Given the description of an element on the screen output the (x, y) to click on. 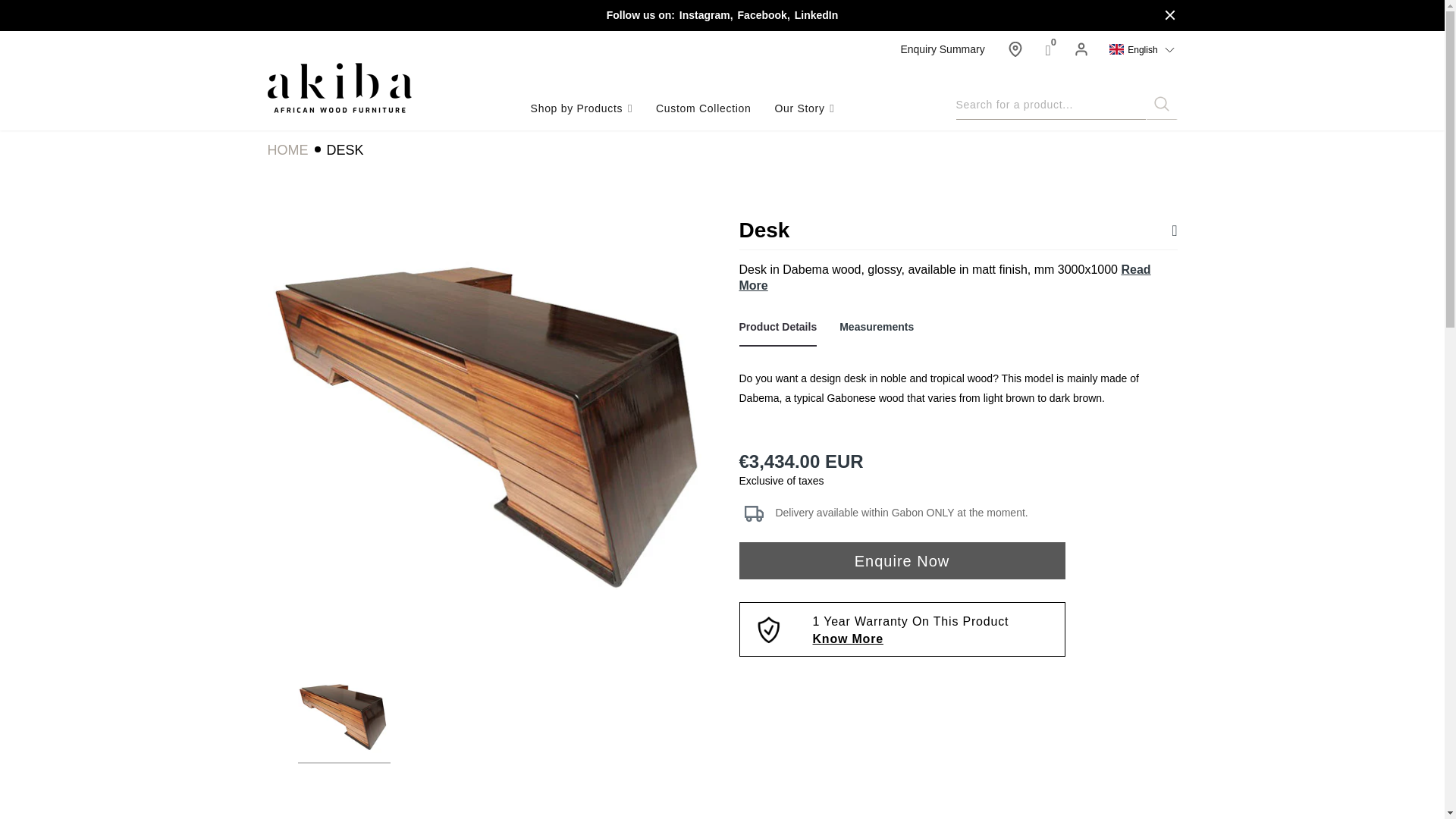
close (1168, 14)
Account (1081, 52)
Enquiry Summary (941, 49)
Facebook, (763, 15)
LinkedIn (815, 15)
Instagram, (705, 15)
Shop by Products (582, 107)
Custom Collection (703, 107)
Our Story (804, 107)
Location (1015, 52)
Akiba Furniture (338, 85)
